Given the description of an element on the screen output the (x, y) to click on. 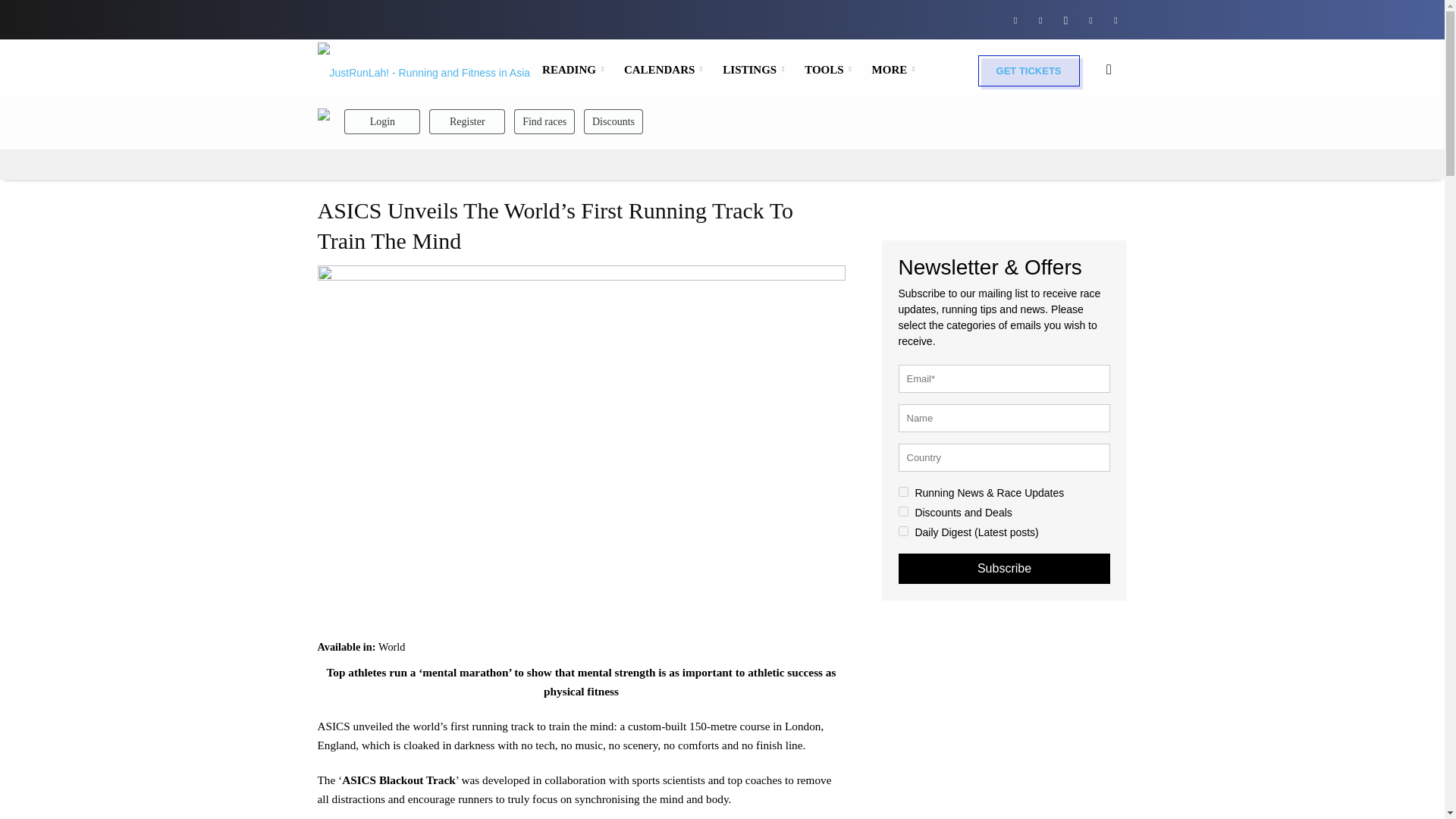
8671578 (902, 491)
8671582 (902, 531)
Instagram (1065, 19)
8671580 (902, 511)
Facebook (1015, 19)
Youtube (1114, 19)
Twitter (1090, 19)
Flickr (1040, 19)
